Given the description of an element on the screen output the (x, y) to click on. 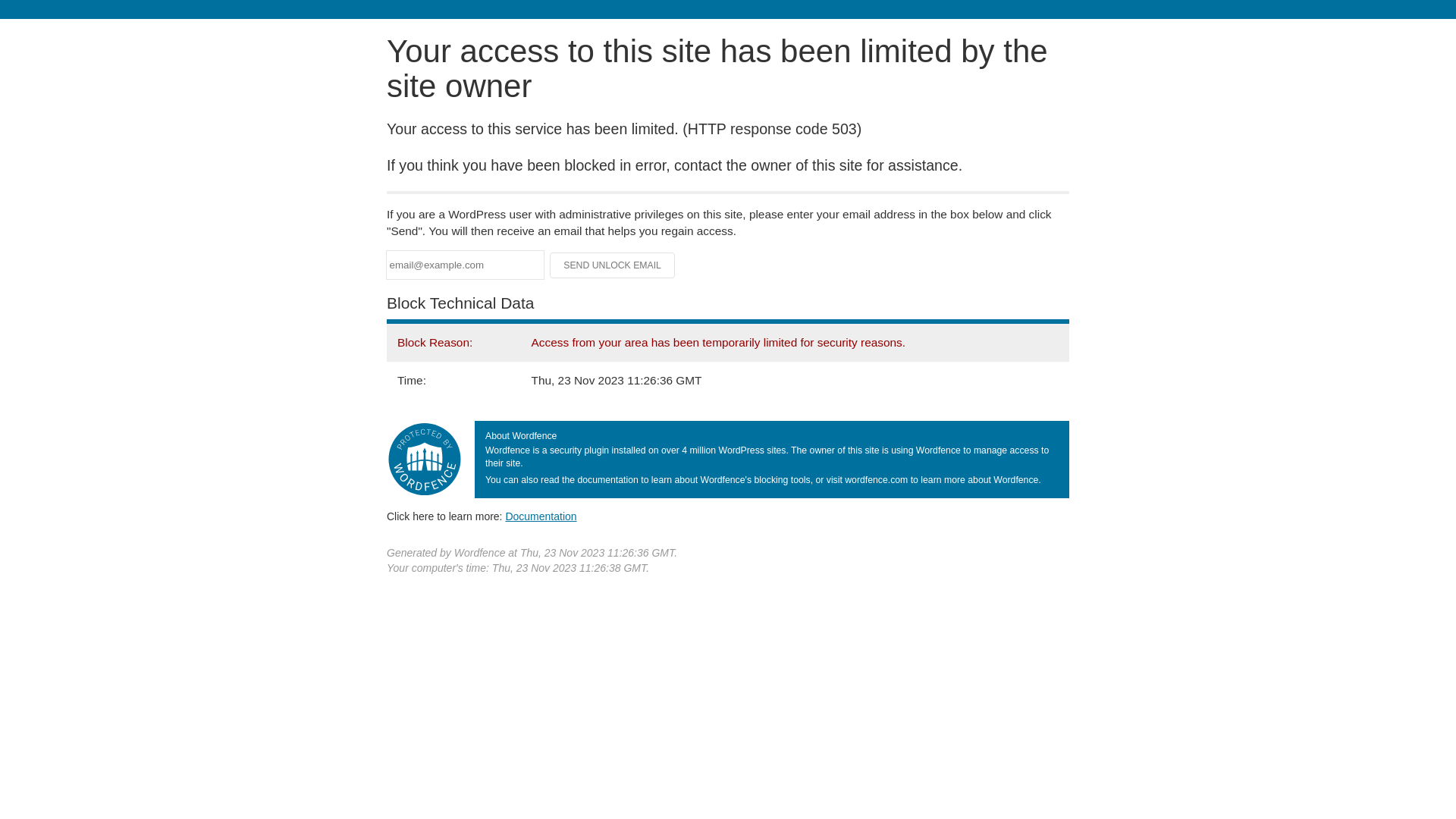
Documentation Element type: text (540, 516)
Send Unlock Email Element type: text (612, 265)
